Given the description of an element on the screen output the (x, y) to click on. 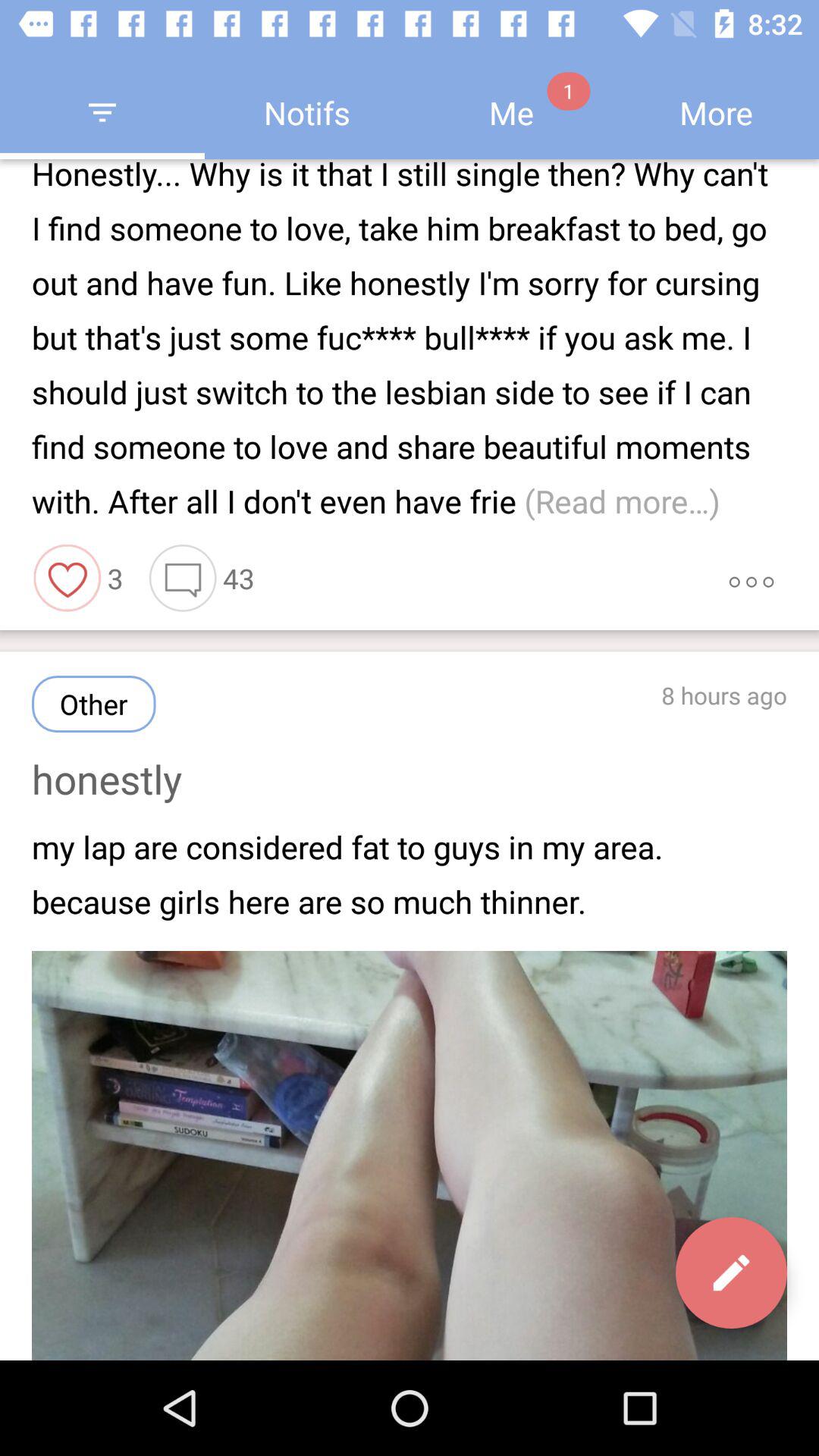
launch icon to the right of the 43 (751, 578)
